Given the description of an element on the screen output the (x, y) to click on. 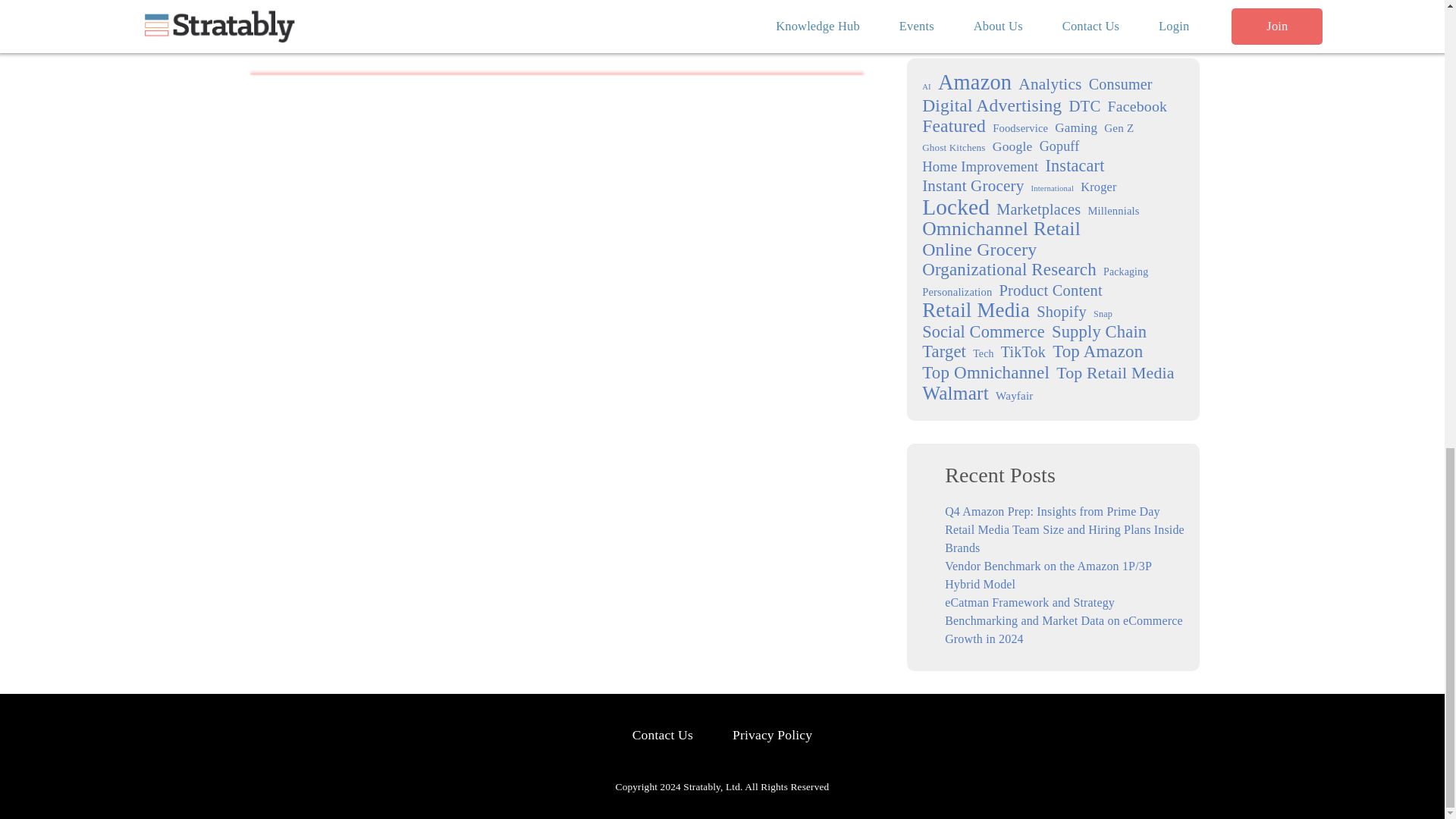
Webinars (967, 4)
Amazon (974, 82)
Digital Advertising (991, 105)
Analytics (1049, 84)
Consumer (1121, 84)
